Given the description of an element on the screen output the (x, y) to click on. 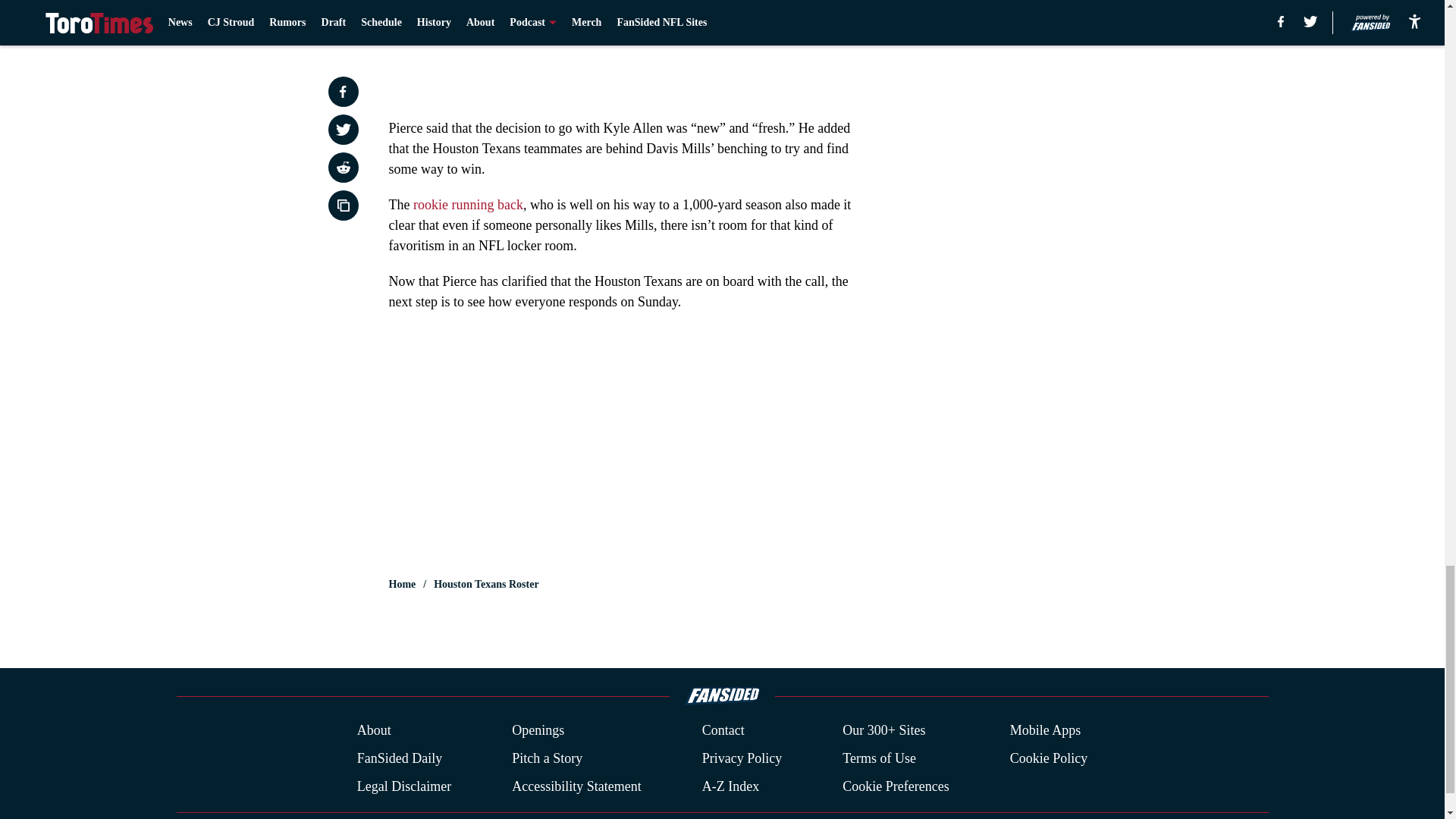
FanSided Daily (399, 758)
About (373, 730)
Openings (538, 730)
Contact (722, 730)
rookie running back (467, 204)
Pitch a Story (547, 758)
Mobile Apps (1045, 730)
Privacy Policy (742, 758)
Houston Texans Roster (485, 584)
Home (401, 584)
